Given the description of an element on the screen output the (x, y) to click on. 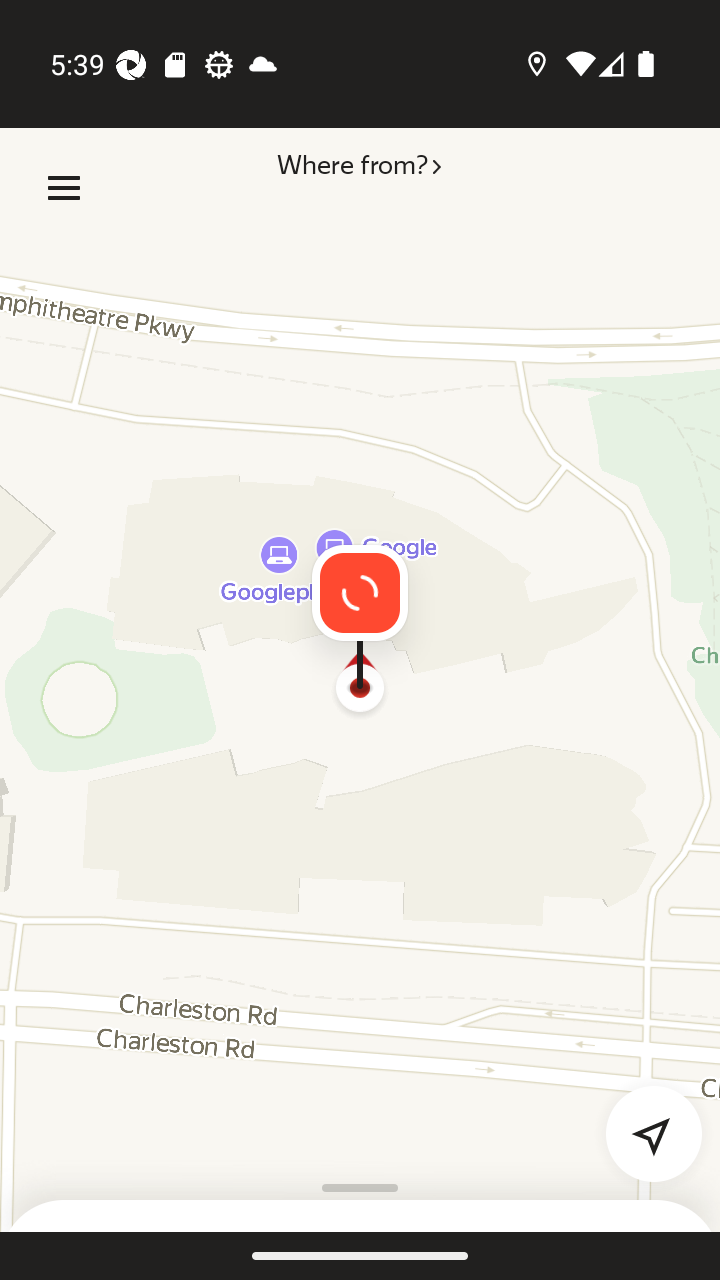
Menu Menu Menu (64, 188)
Where from?   (358, 188)
Detect my location (641, 1122)
